Given the description of an element on the screen output the (x, y) to click on. 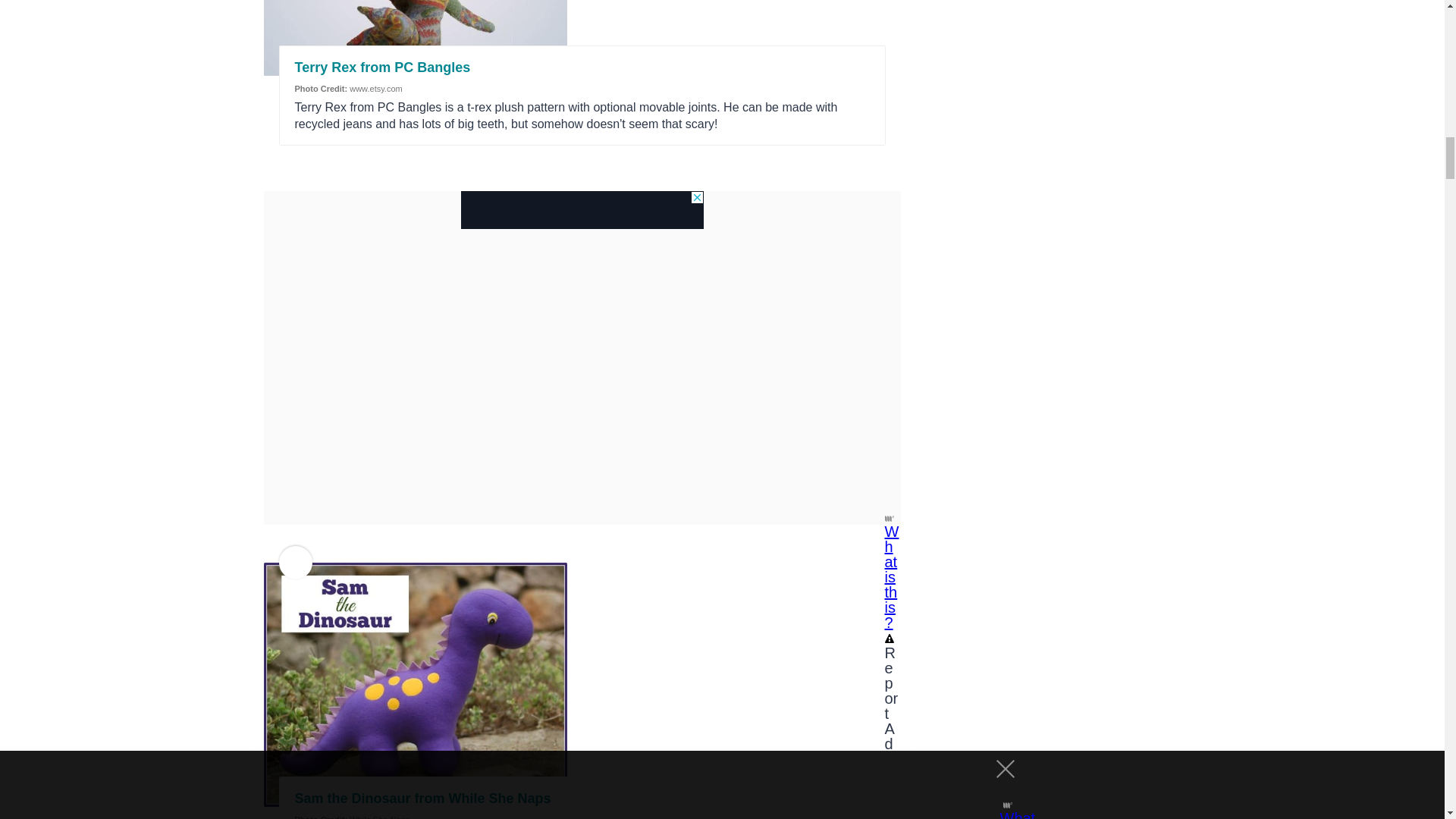
Sam the Dinosaur from While She Naps (422, 798)
3rd party ad content (582, 209)
Terry Rex from PC Bangles (382, 67)
